Given the description of an element on the screen output the (x, y) to click on. 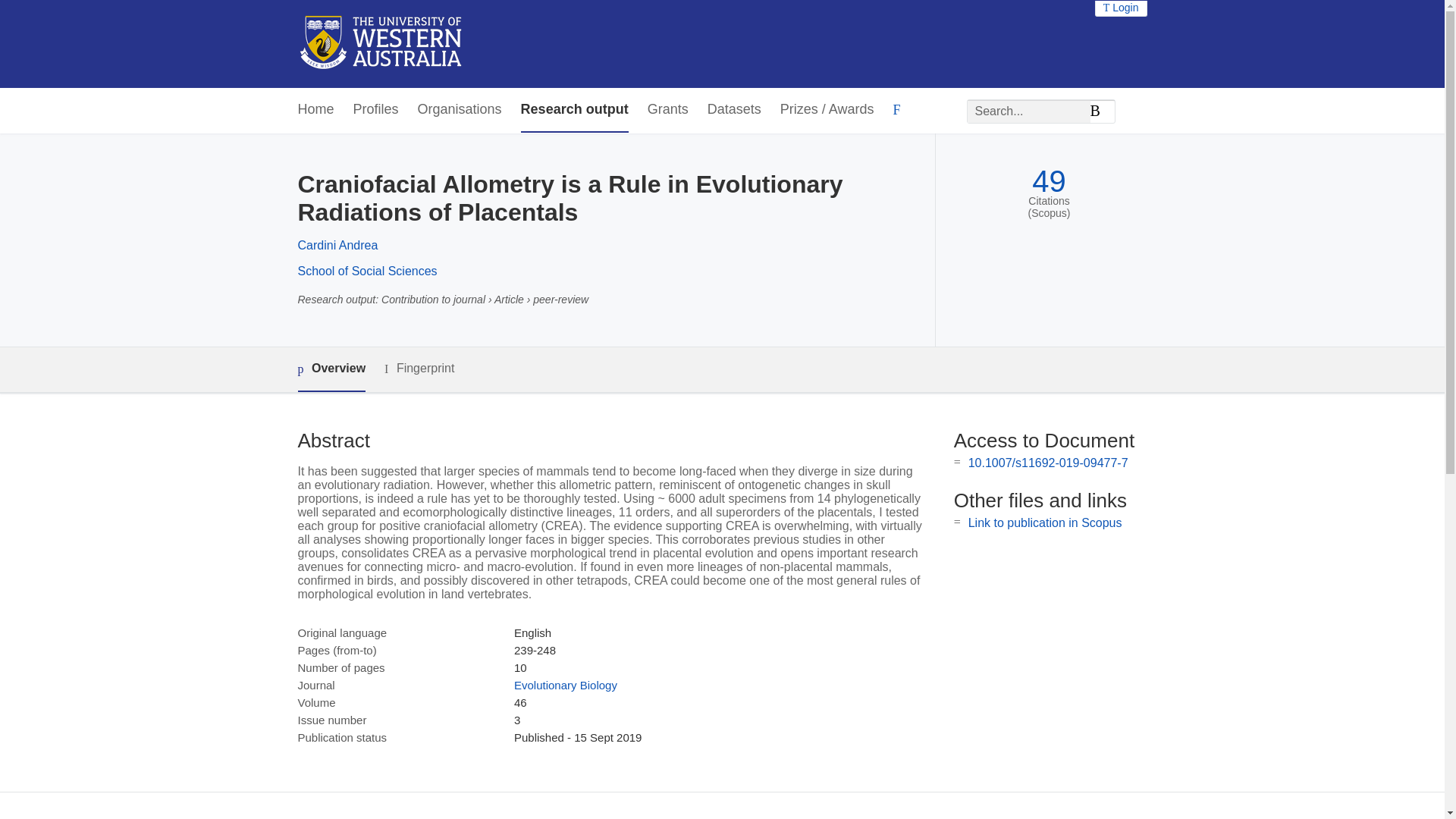
Research output (574, 109)
School of Social Sciences (366, 270)
Overview (331, 369)
the UWA Profiles and Research Repository Home (380, 43)
49 (1048, 181)
Cardini Andrea (337, 245)
Evolutionary Biology (565, 684)
Datasets (734, 109)
Fingerprint (419, 368)
Grants (667, 109)
Login (1121, 7)
Profiles (375, 109)
Link to publication in Scopus (1045, 522)
Home (315, 109)
